Given the description of an element on the screen output the (x, y) to click on. 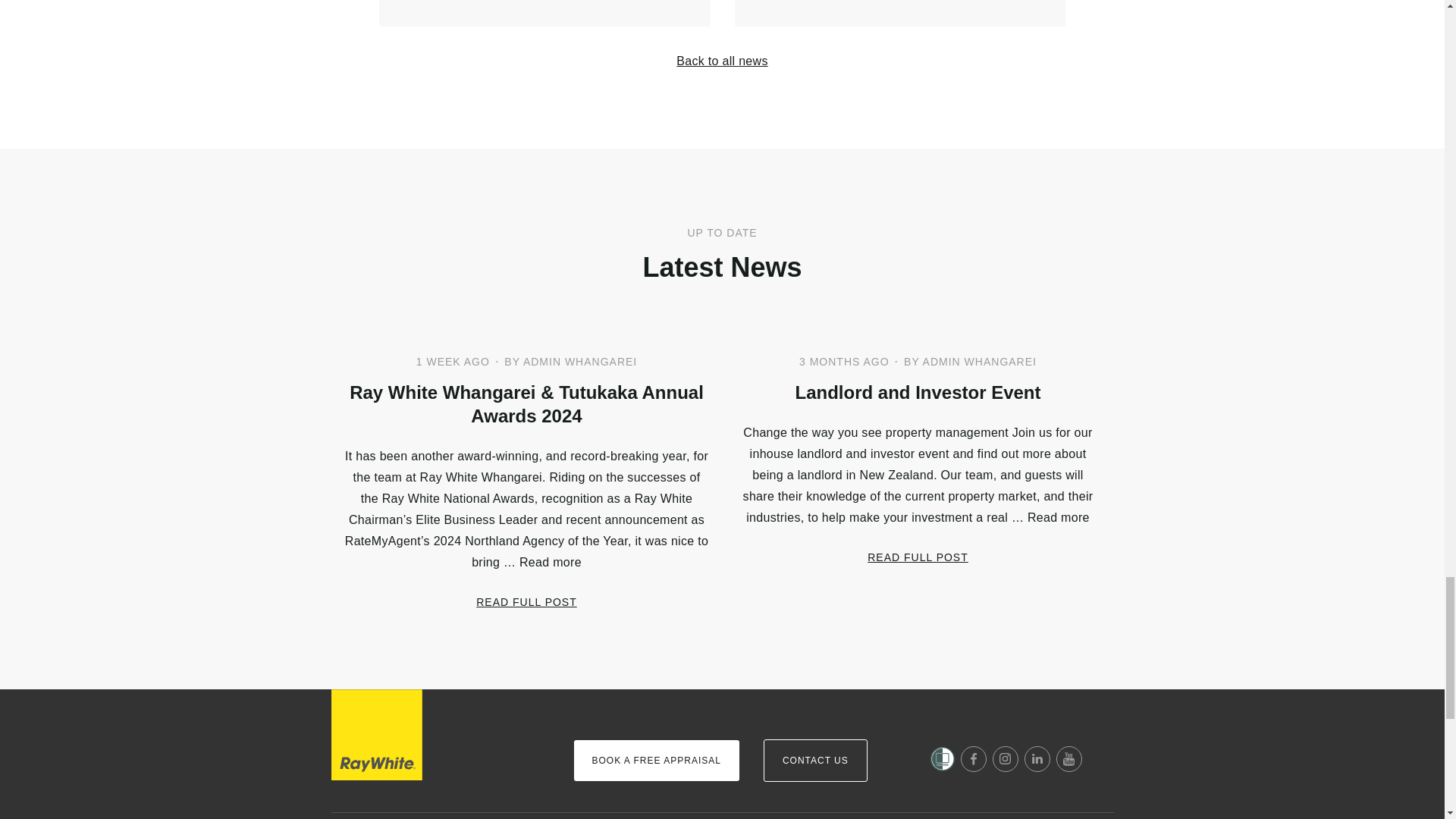
READ FULL POST (526, 601)
BOOK A FREE APPRAISAL (655, 760)
Facebook (973, 759)
Landlord and Investor Event (916, 392)
Instagram (1004, 759)
CONTACT US (814, 760)
LinkedIn (1037, 759)
Youtube (1069, 759)
READ FULL POST (917, 556)
Back to all news (722, 60)
Ray White (376, 734)
